Given the description of an element on the screen output the (x, y) to click on. 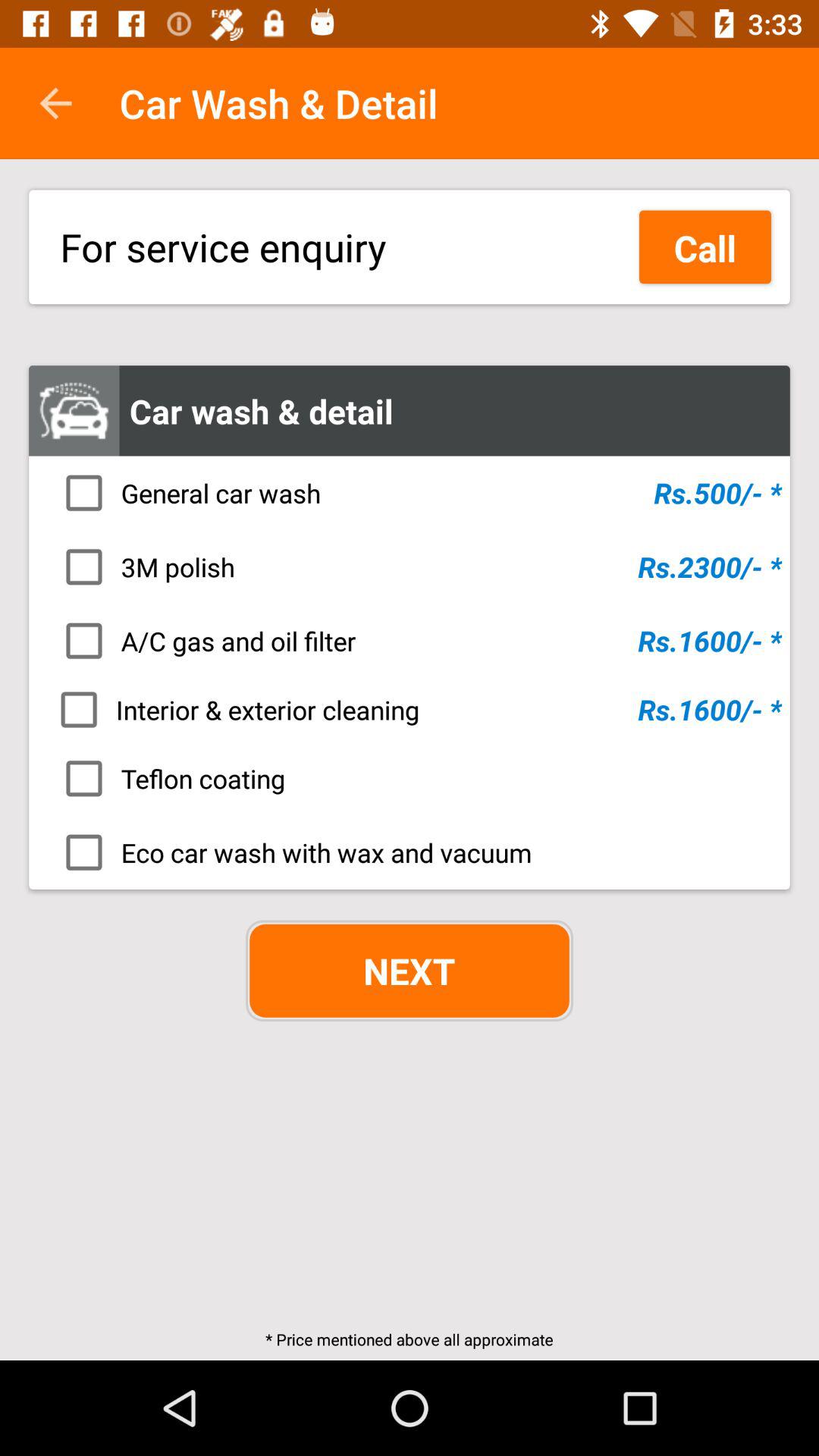
turn off icon below interior & exterior cleaning icon (414, 778)
